Given the description of an element on the screen output the (x, y) to click on. 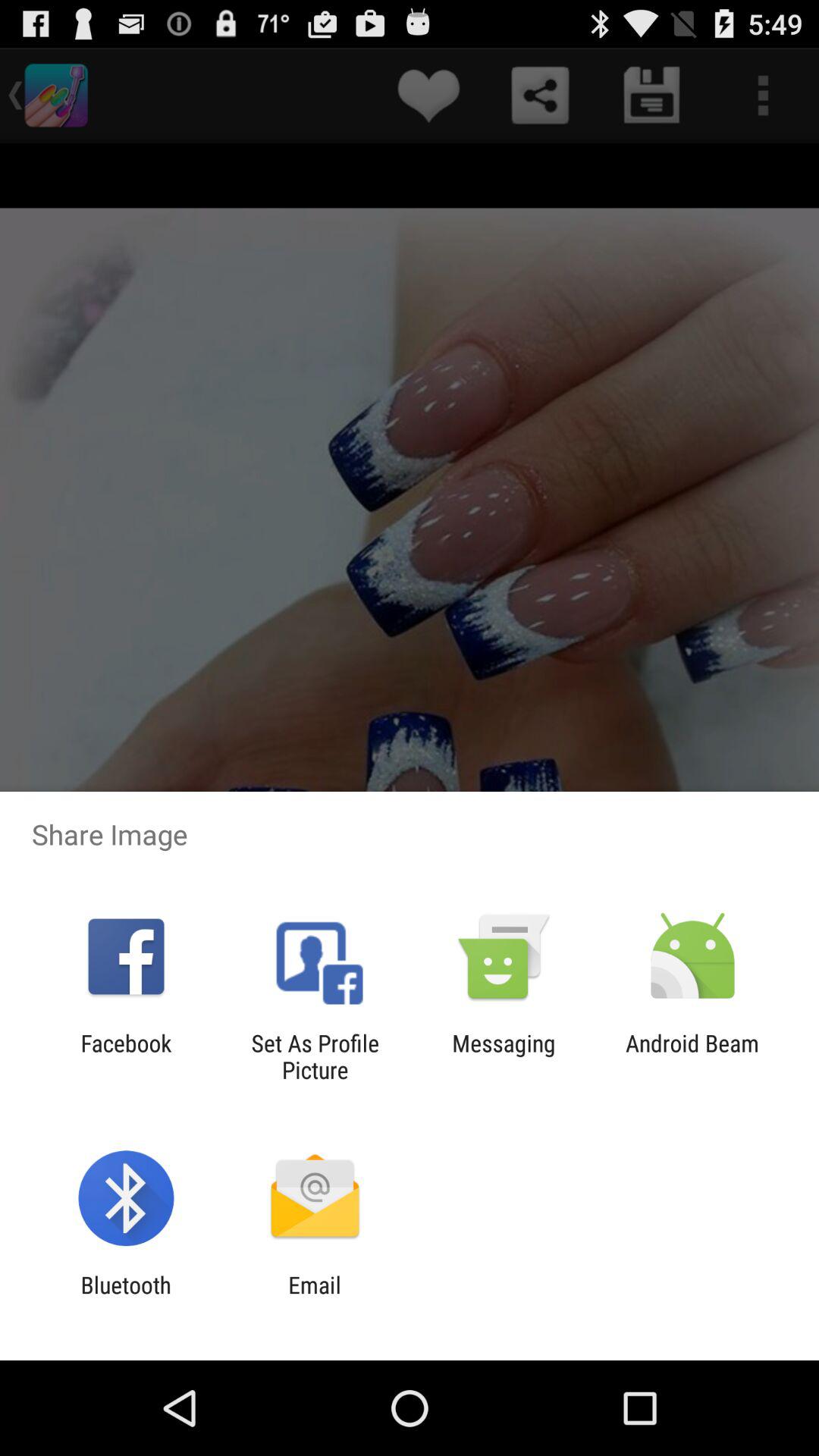
click facebook icon (125, 1056)
